Given the description of an element on the screen output the (x, y) to click on. 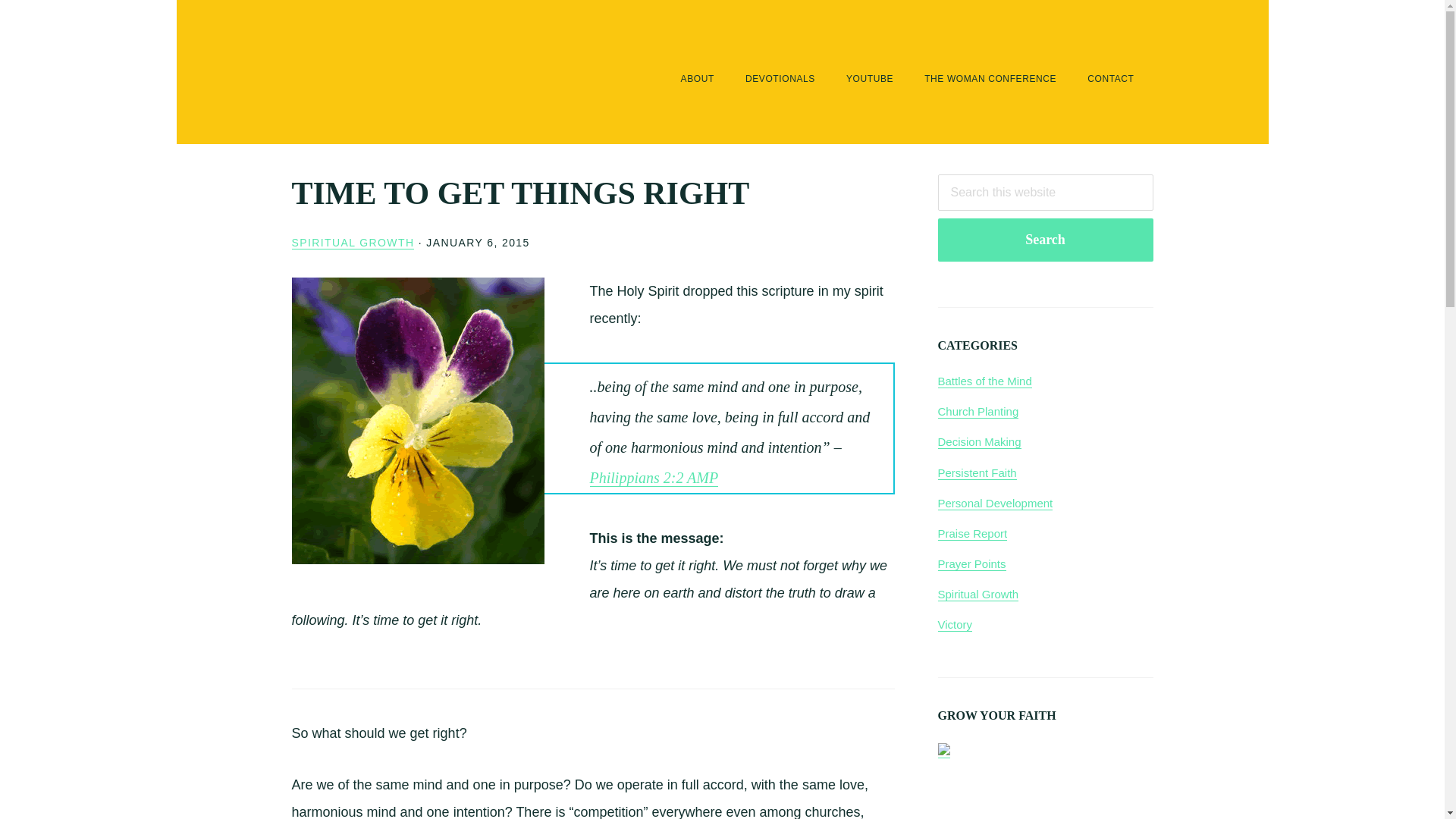
Praise Report (972, 533)
Victory (954, 624)
Search (1045, 239)
YOUTUBE (869, 78)
Personal Development (994, 503)
SPIRITUAL GROWTH (352, 242)
Battles of the Mind (983, 381)
Search (1045, 239)
Prayer Points (971, 563)
Persistent Faith Ministries International (366, 77)
THE WOMAN CONFERENCE (990, 78)
DEVOTIONALS (780, 78)
Church Planting (977, 411)
Search (1045, 239)
